Given the description of an element on the screen output the (x, y) to click on. 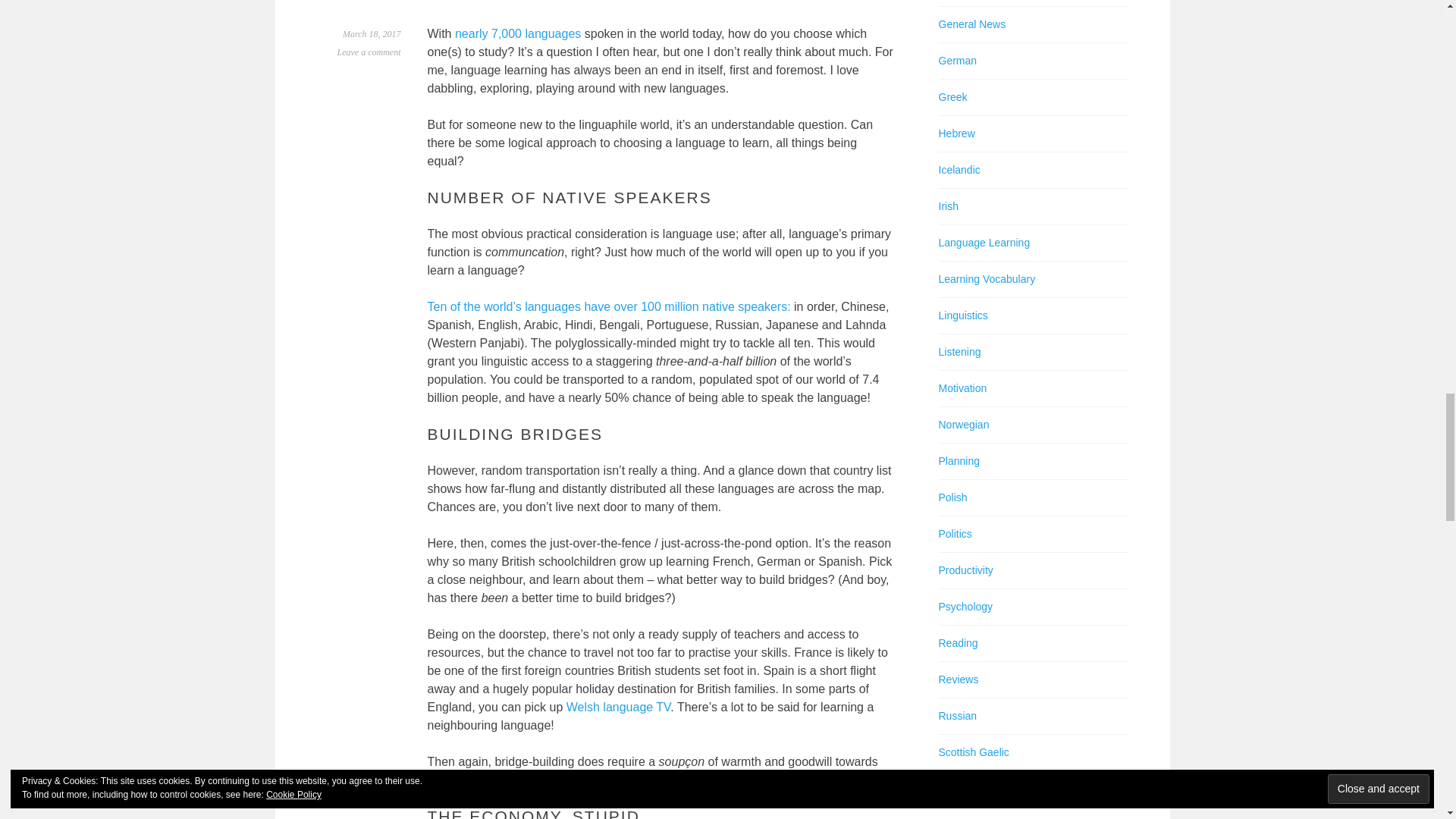
Leave a comment (369, 51)
nearly 7,000 languages (517, 33)
Permalink to Language choice: finding your Wonderland (371, 33)
March 18, 2017 (371, 33)
Welsh language TV (618, 707)
this can sometimes seem in short supply (626, 779)
